Given the description of an element on the screen output the (x, y) to click on. 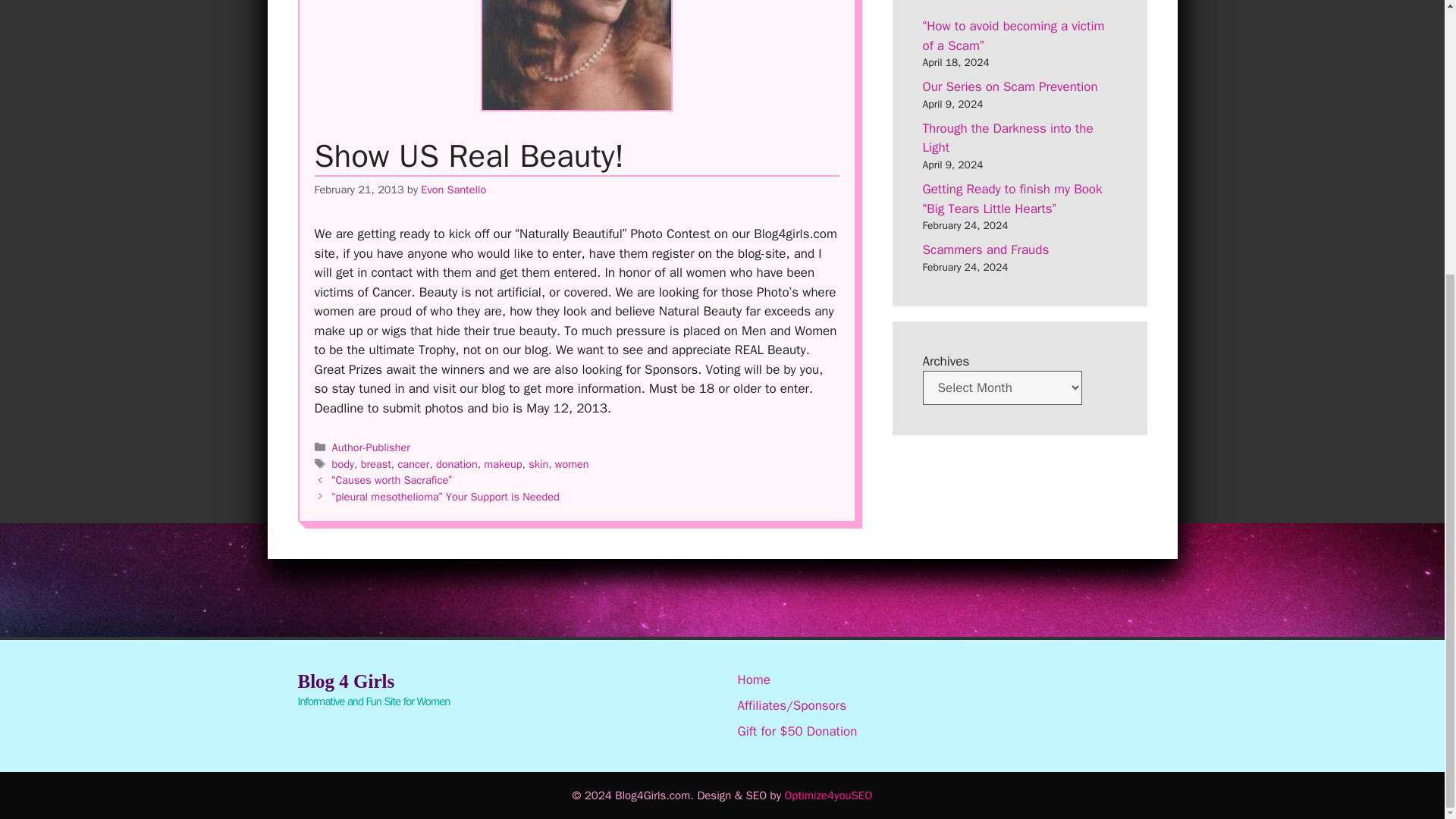
body (342, 463)
cancer (413, 463)
Scammers and Frauds (984, 249)
View all posts by Evon Santello (453, 189)
skin (538, 463)
Optimize4youSEO (828, 795)
Previous (391, 479)
Evon Santello (453, 189)
breast (376, 463)
donation (456, 463)
makeup (502, 463)
women (571, 463)
Through the Darkness into the Light (1007, 138)
Home (753, 679)
Our Series on Scam Prevention (1009, 86)
